Given the description of an element on the screen output the (x, y) to click on. 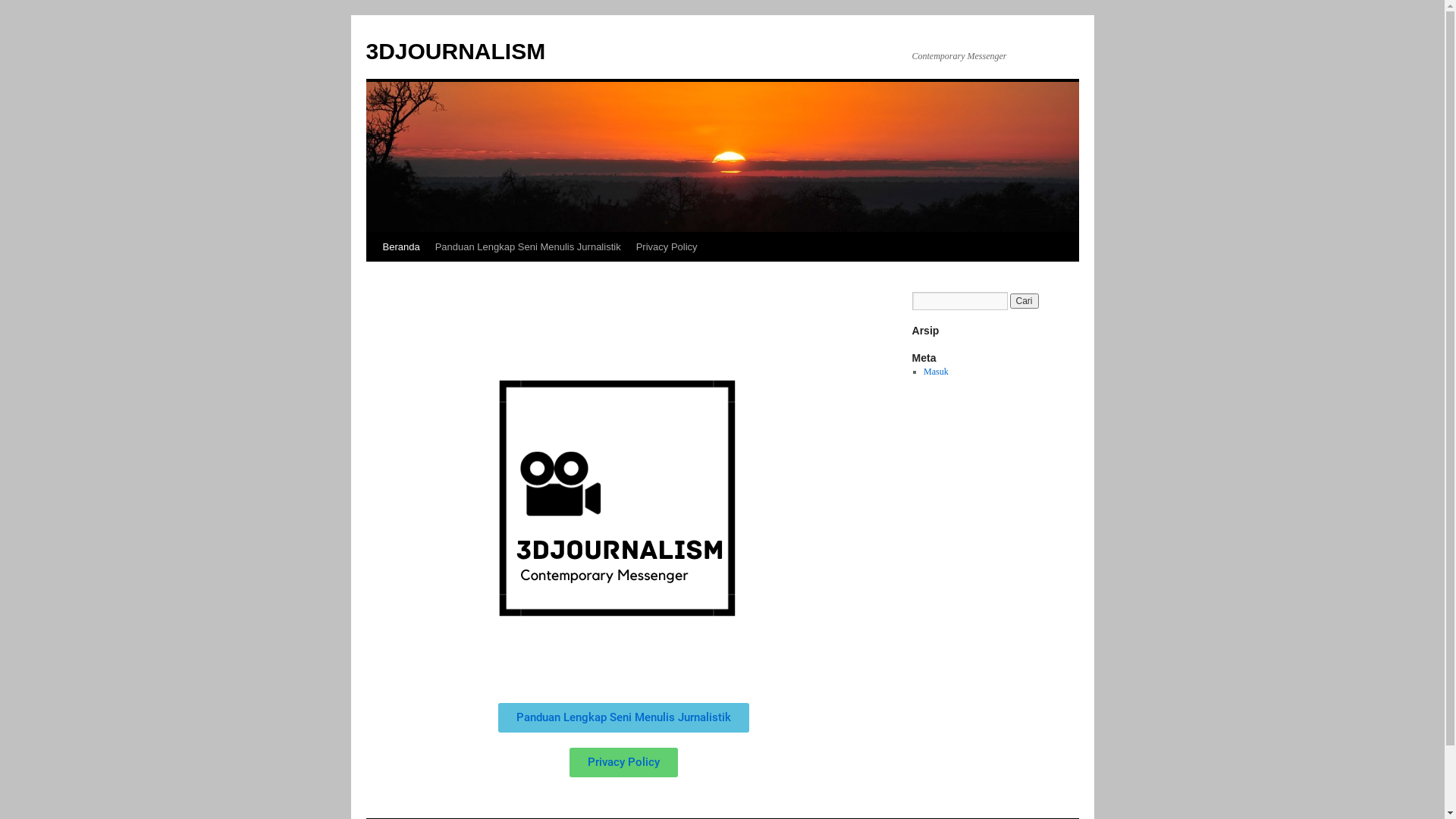
Privacy Policy Element type: text (623, 762)
Privacy Policy Element type: text (666, 246)
Cari Element type: text (1024, 300)
3DJOURNALISM Element type: text (455, 50)
Masuk Element type: text (935, 371)
Panduan Lengkap Seni Menulis Jurnalistik Element type: text (623, 717)
Beranda Element type: text (400, 246)
Panduan Lengkap Seni Menulis Jurnalistik Element type: text (527, 246)
